Given the description of an element on the screen output the (x, y) to click on. 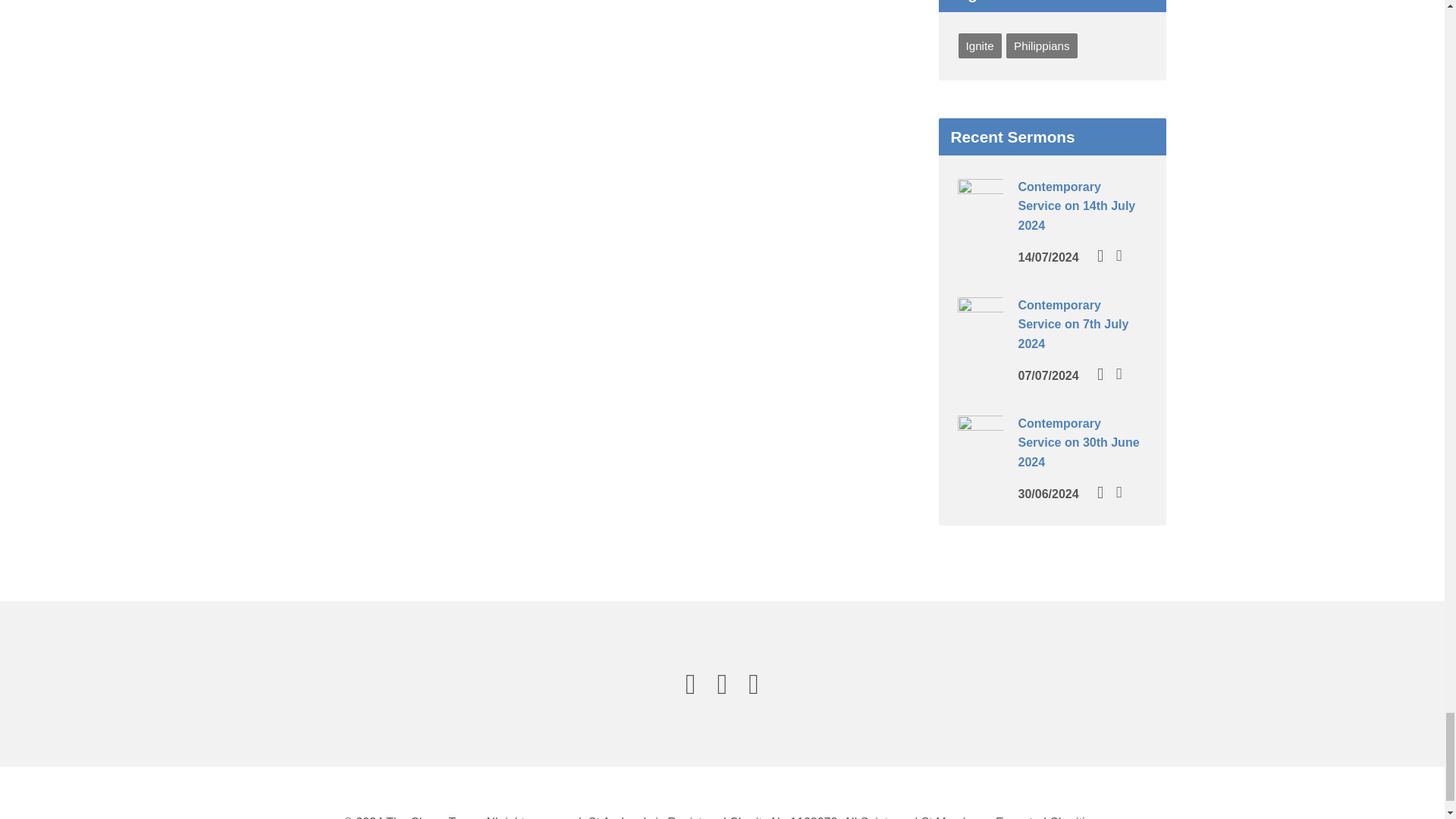
Contemporary Service on 7th July 2024 (1072, 324)
Contemporary Service on 14th July 2024 (979, 214)
Contemporary Service on 7th July 2024 (979, 332)
Contemporary Service on 14th July 2024 (1076, 205)
